Given the description of an element on the screen output the (x, y) to click on. 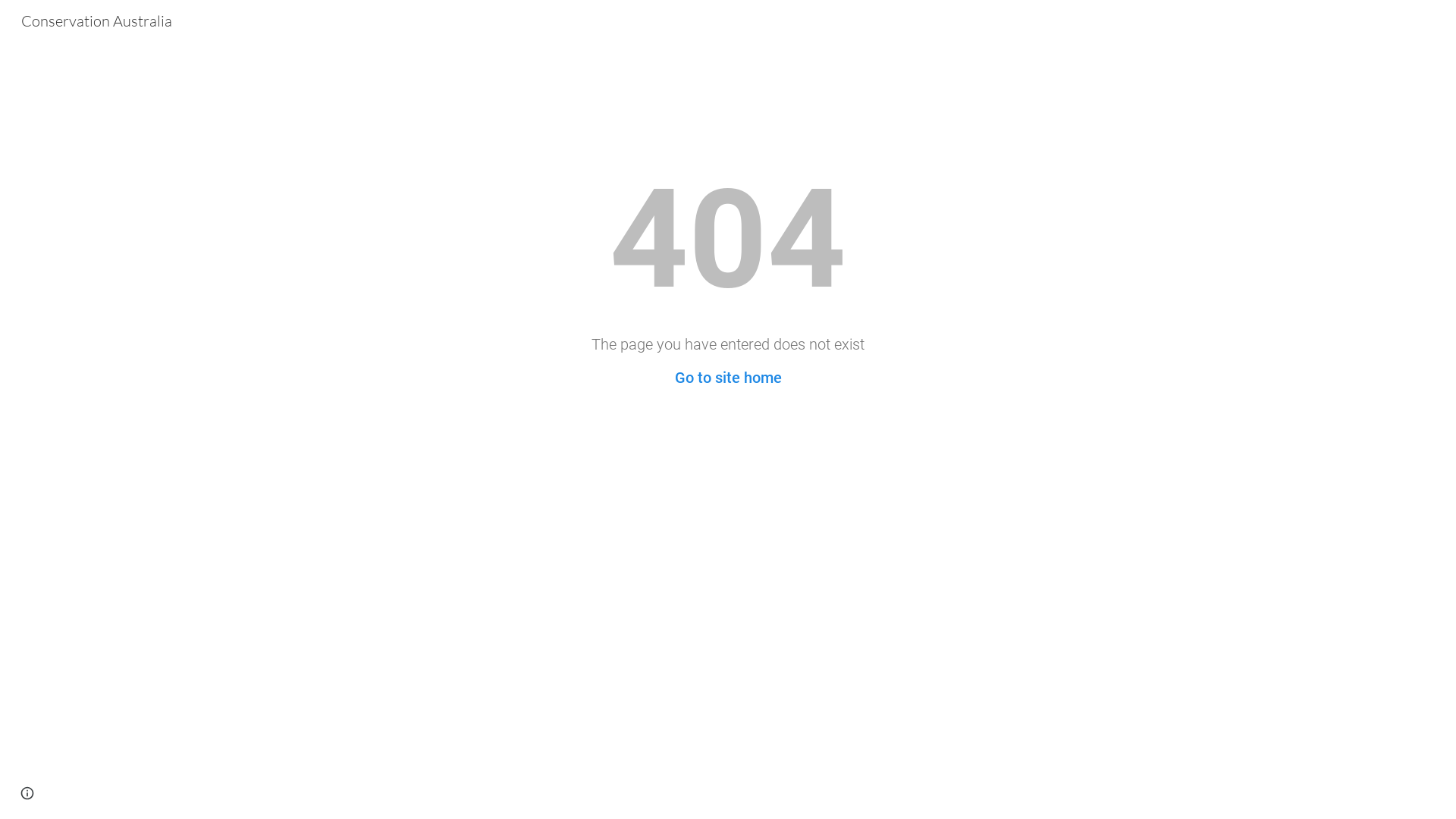
Go to site home Element type: text (727, 377)
Conservation Australia Element type: text (96, 18)
